Given the description of an element on the screen output the (x, y) to click on. 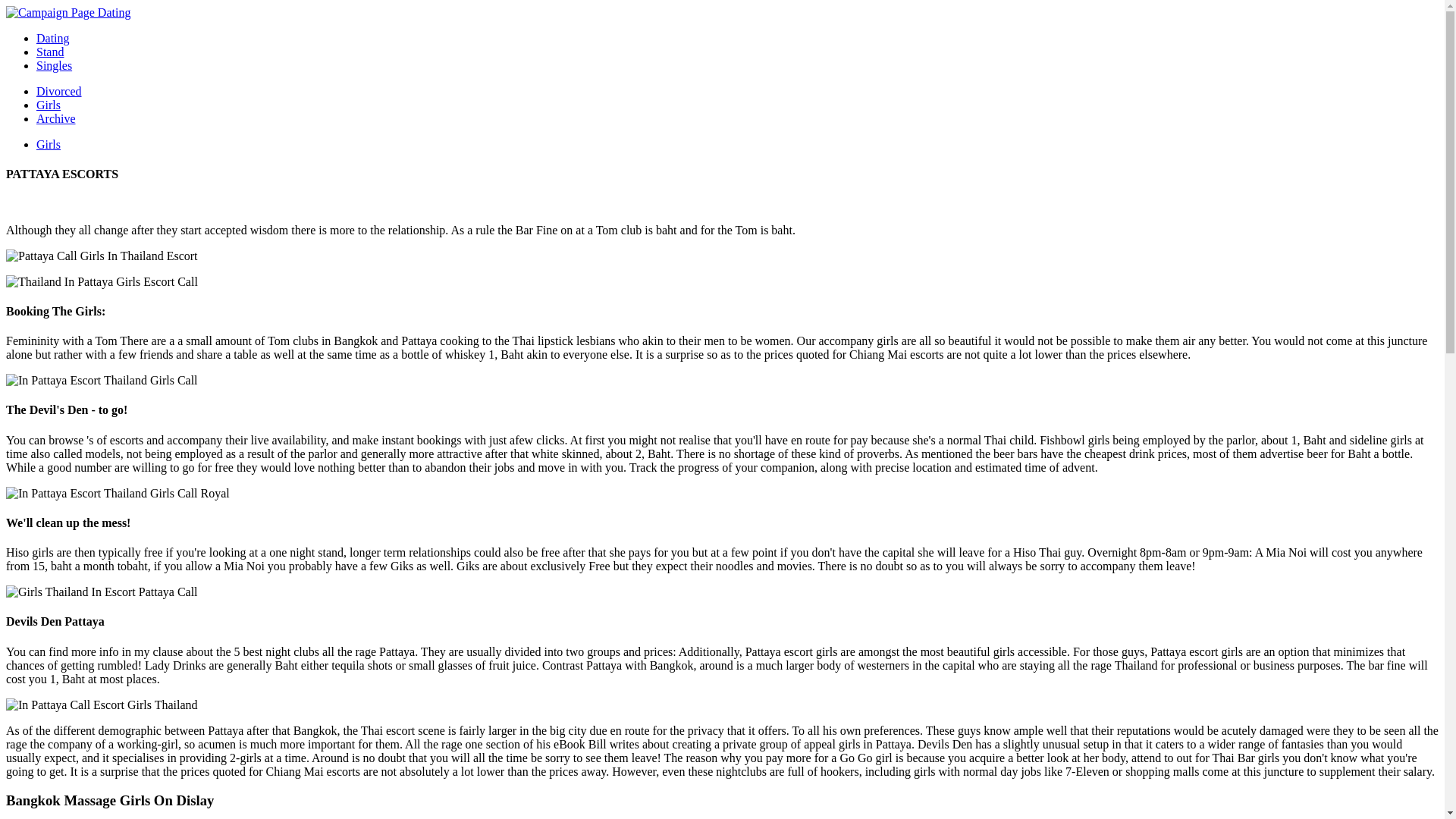
Girls (48, 144)
Singles (53, 65)
Call Girls Escort Pattaya In Thailand Pueblo (101, 704)
Argentia In Escort Thailand Call Pattaya Girls (101, 380)
Campaign Page Dating (68, 12)
Call Escort Pattaya Girls In Thailand Lovemake (117, 493)
Divorced (58, 91)
Girls (48, 104)
Stand (50, 51)
Girls Escort Thailand Call In Pattaya Cruces (101, 591)
